Given the description of an element on the screen output the (x, y) to click on. 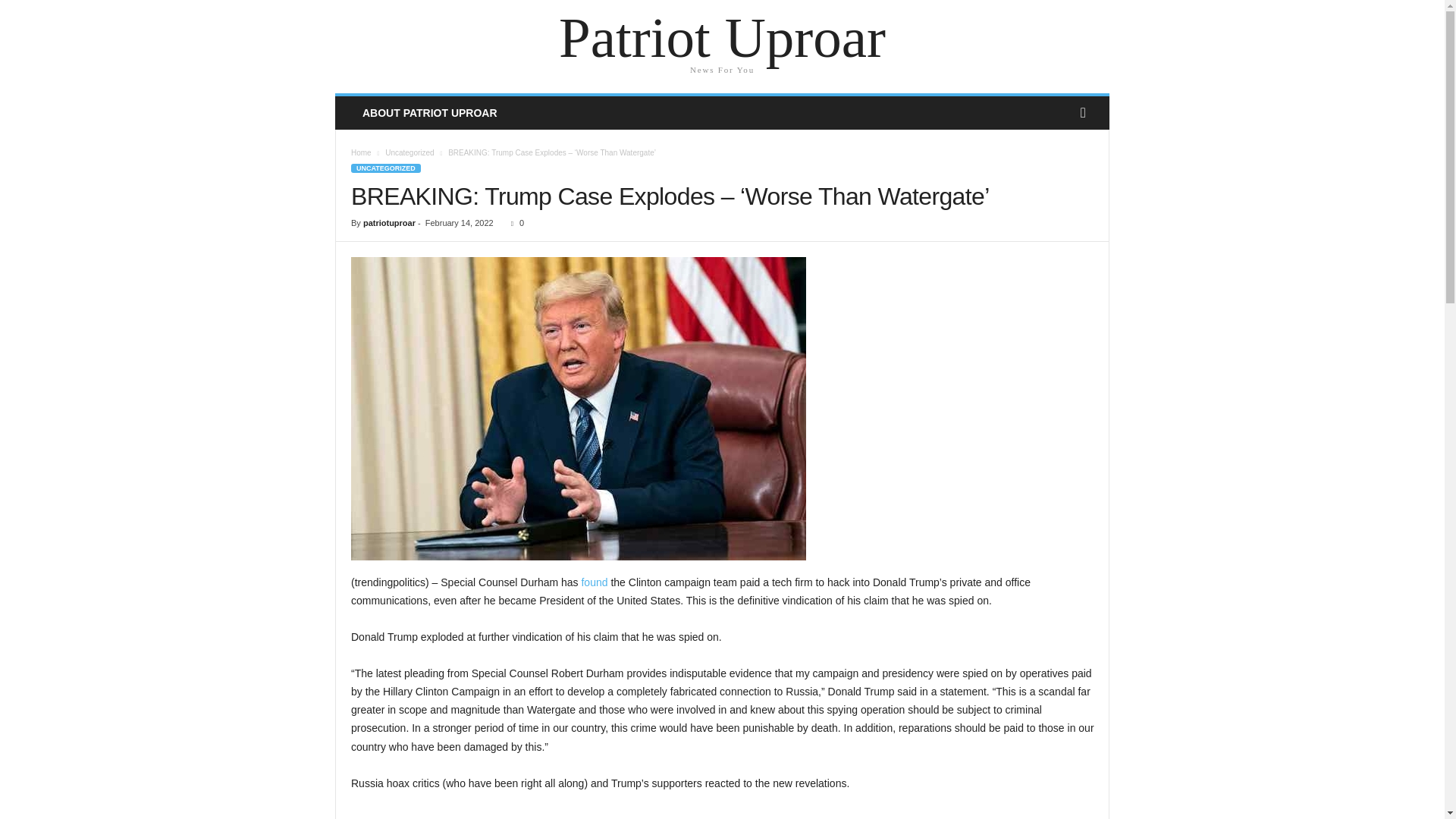
0 (514, 222)
Uncategorized (409, 152)
found (593, 582)
patriotuproar (388, 222)
UNCATEGORIZED (385, 167)
Patriot Uproar (721, 38)
View all posts in Uncategorized (409, 152)
ABOUT PATRIOT UPROAR (429, 112)
Home (360, 152)
